Given the description of an element on the screen output the (x, y) to click on. 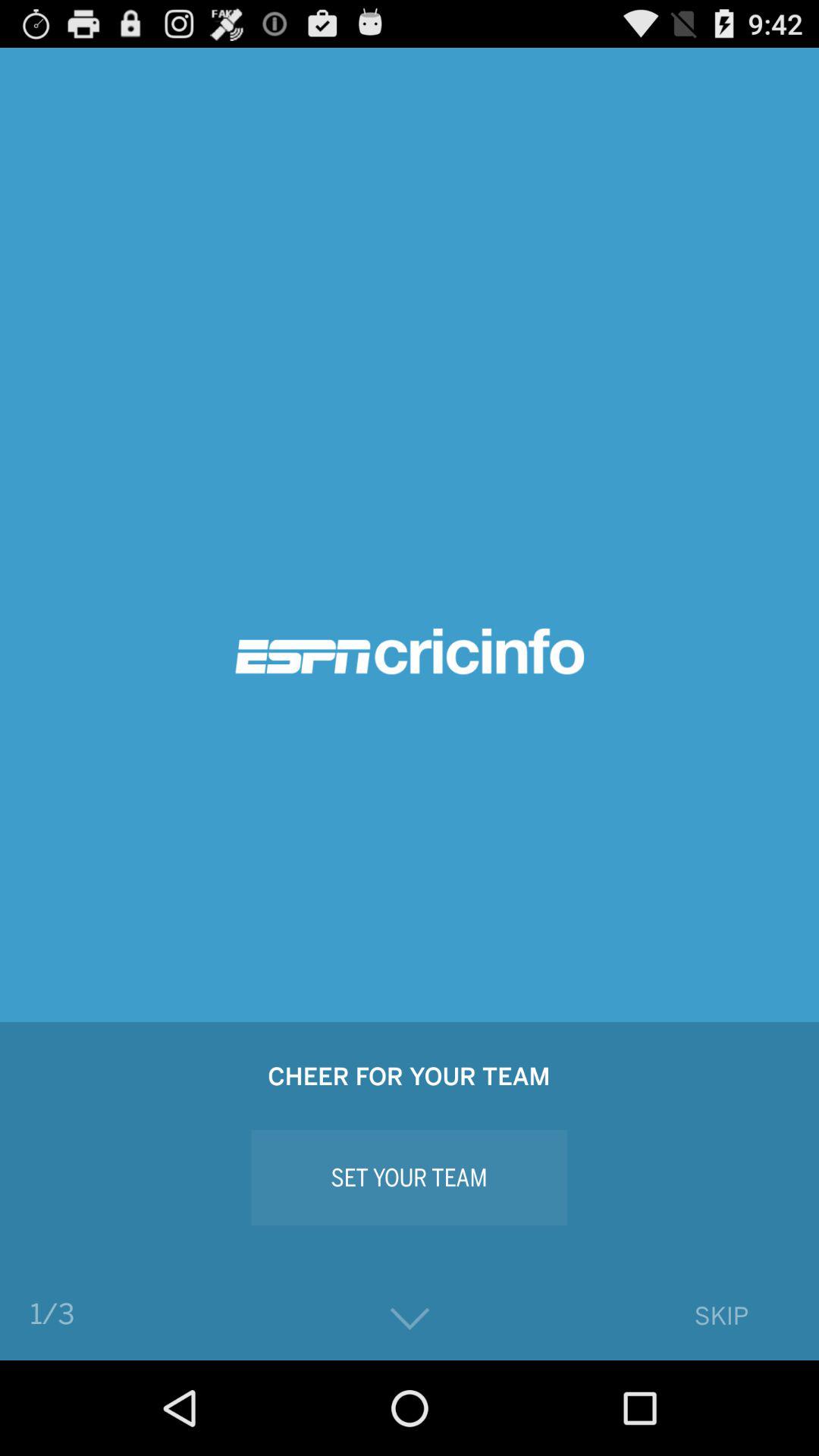
press the skip (720, 1315)
